Given the description of an element on the screen output the (x, y) to click on. 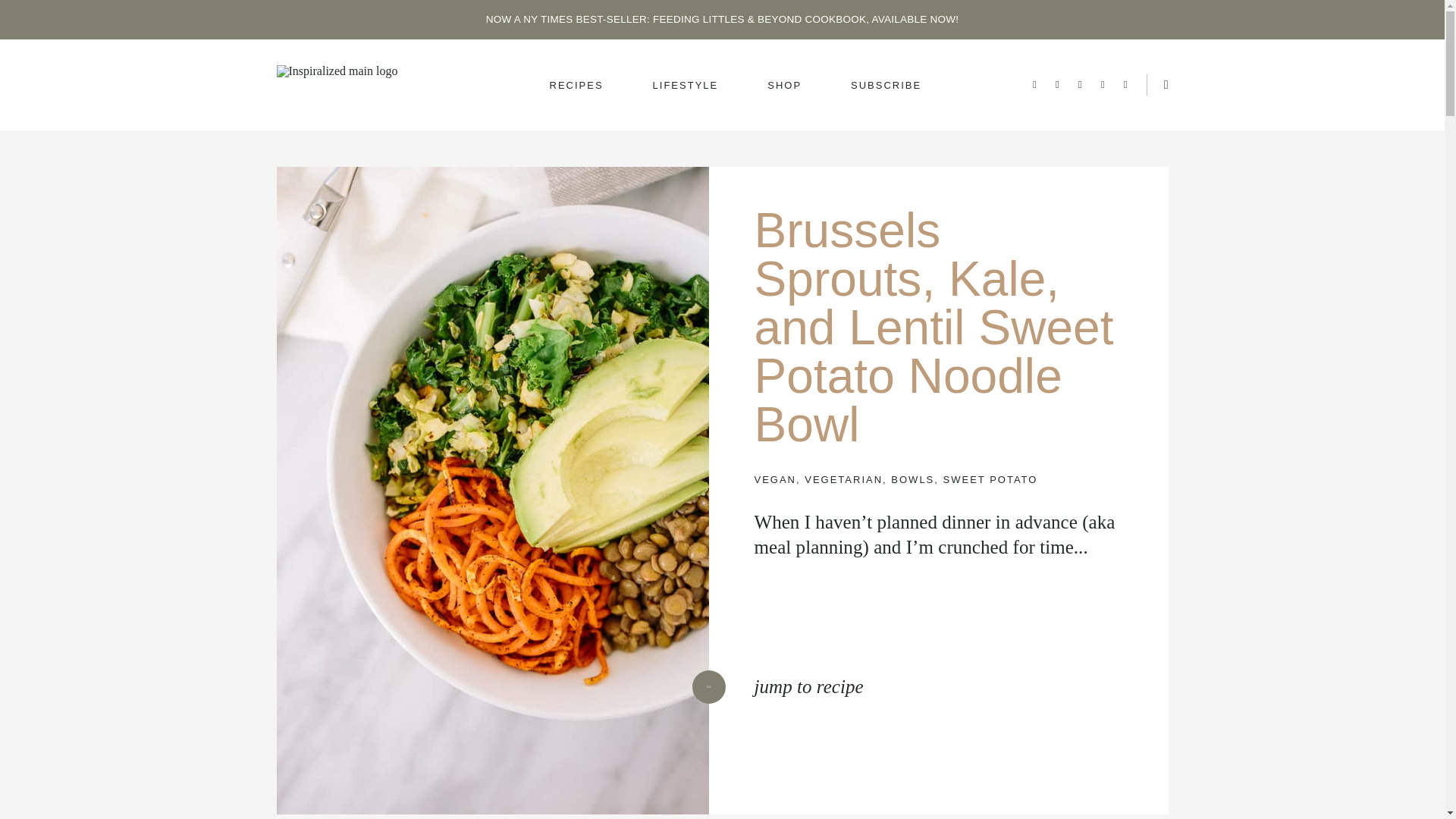
LIFESTYLE (685, 84)
SHOP (783, 84)
SUBSCRIBE (885, 84)
RECIPES (576, 84)
